Given the description of an element on the screen output the (x, y) to click on. 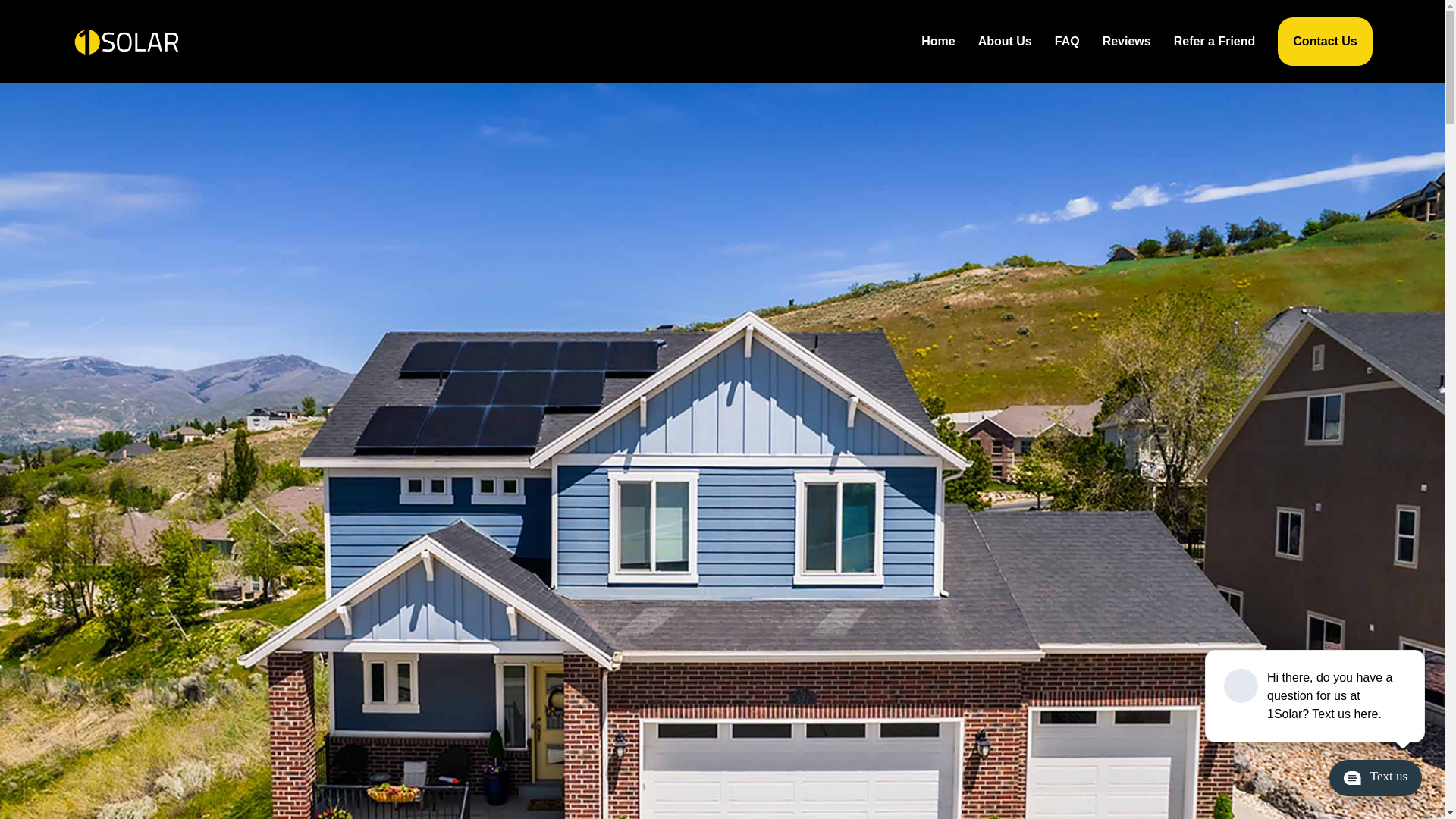
Reviews Element type: text (1126, 41)
Contact Us Element type: text (1324, 41)
Home Element type: text (938, 41)
FAQ Element type: text (1067, 41)
Refer a Friend Element type: text (1214, 41)
About Us Element type: text (1004, 41)
podium webchat widget prompt Element type: hover (1315, 696)
